Given the description of an element on the screen output the (x, y) to click on. 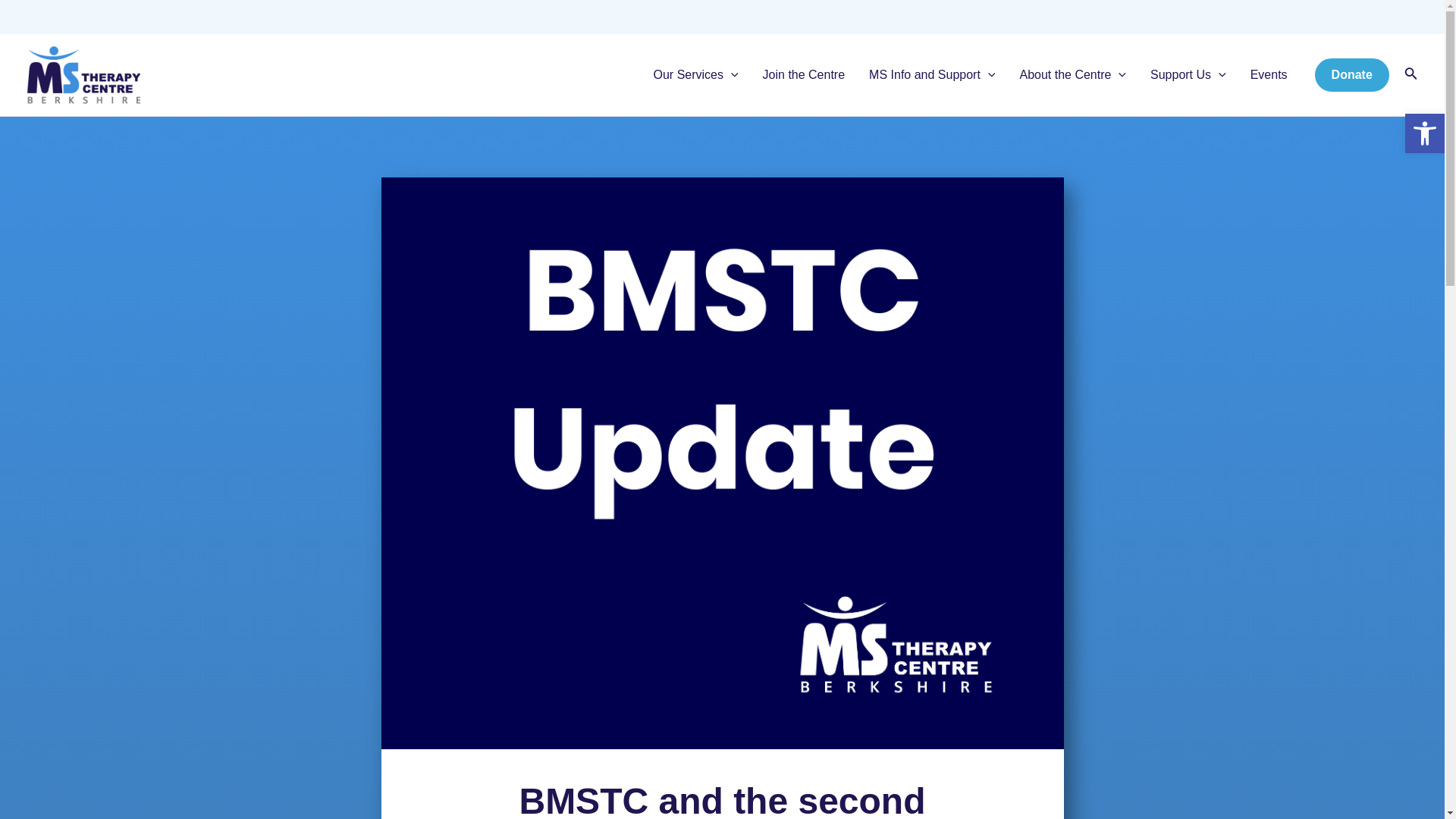
Our Services (696, 75)
Accessibility Tools (1424, 133)
Accessibility Tools (1424, 133)
